Given the description of an element on the screen output the (x, y) to click on. 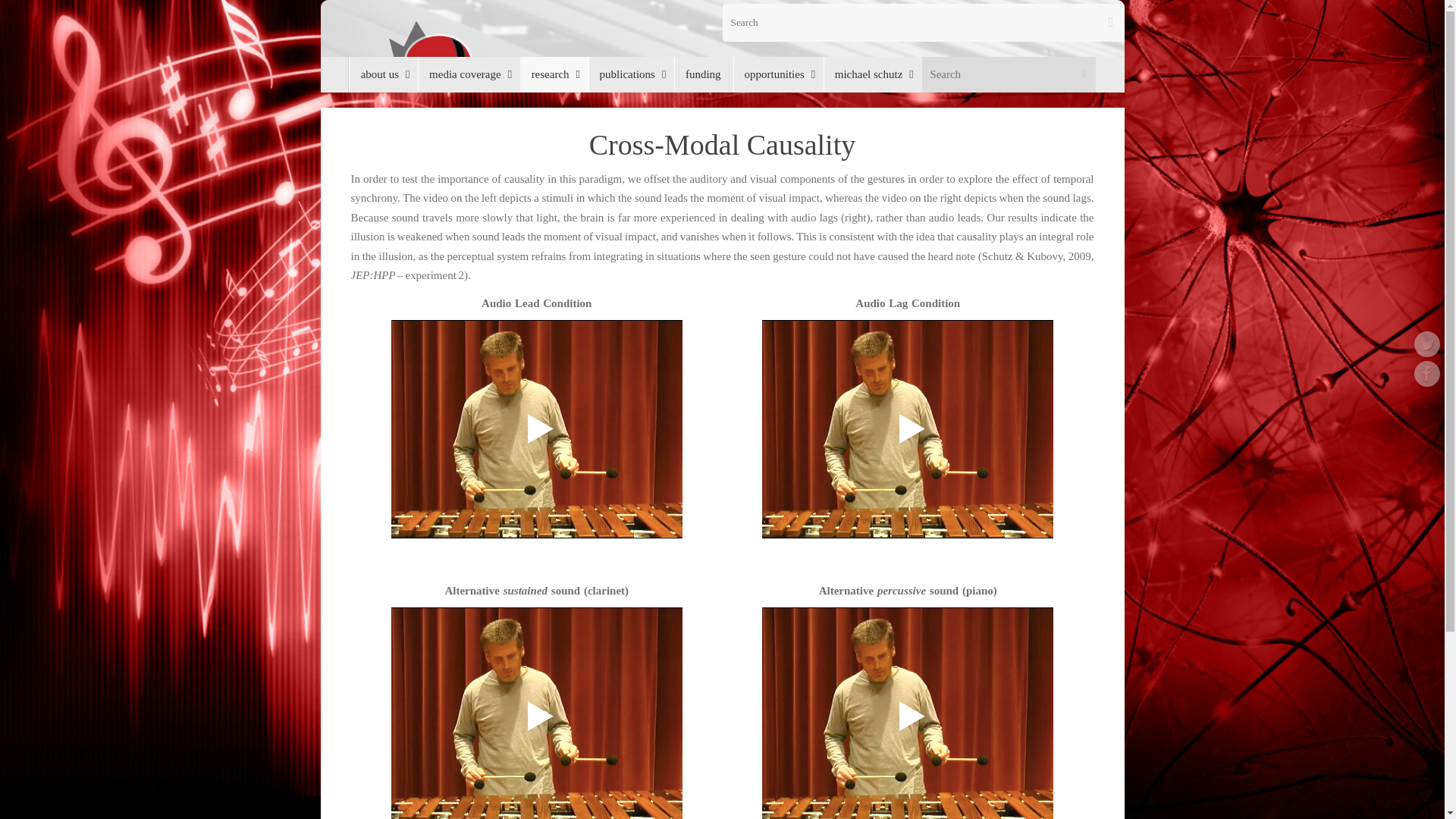
MAPLE Lab (722, 75)
media coverage (468, 74)
MAPLE Lab (729, 76)
research (553, 74)
Maple Lab Facebook (1426, 373)
about us (383, 74)
